Given the description of an element on the screen output the (x, y) to click on. 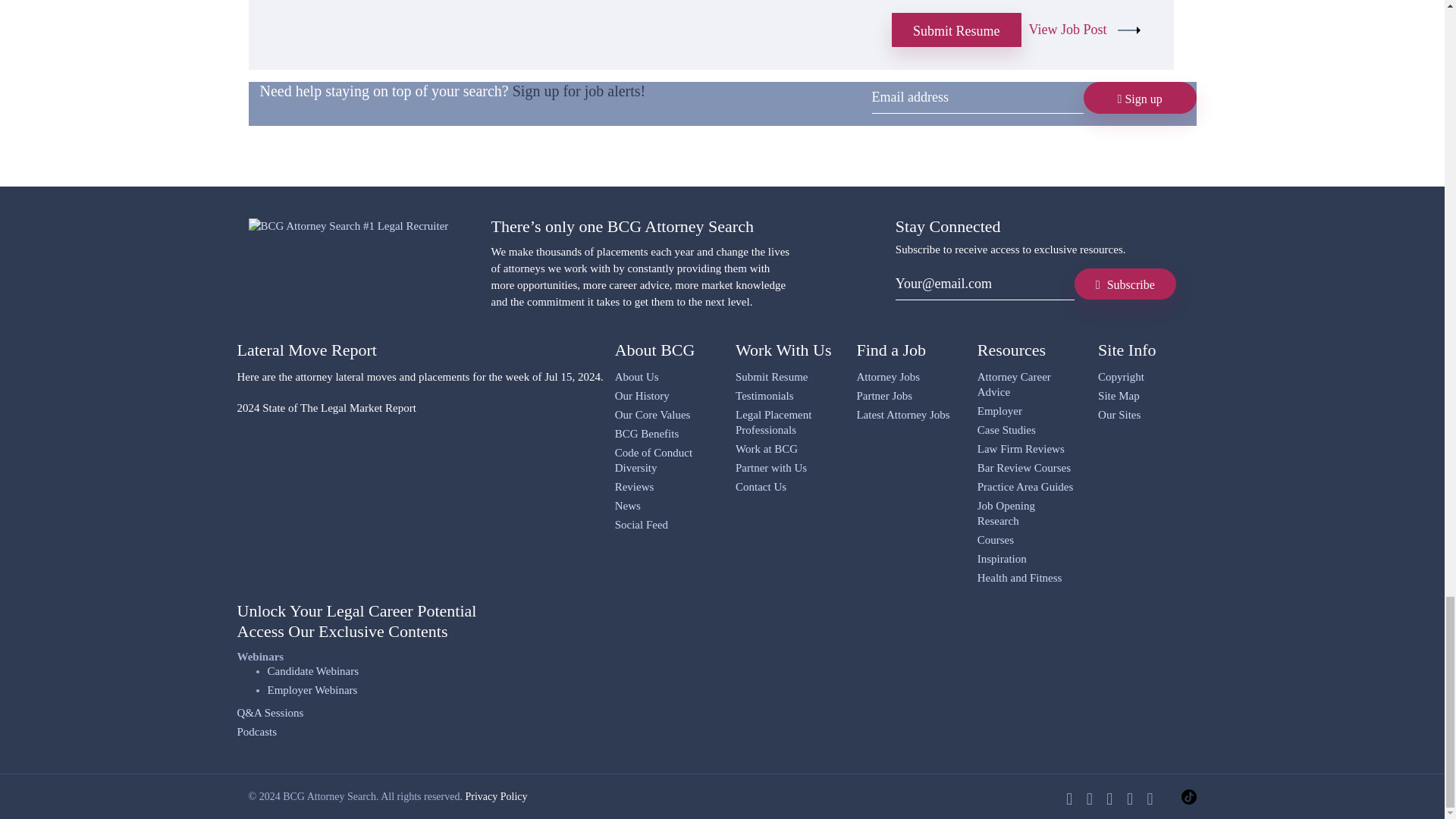
BCG Attorney Search Linkedin (1109, 798)
BCG Attorney Search Facebook (1068, 798)
BCG Attorney Search Youtube (1129, 798)
BCG Attorney Search Twitter (1089, 798)
